Given the description of an element on the screen output the (x, y) to click on. 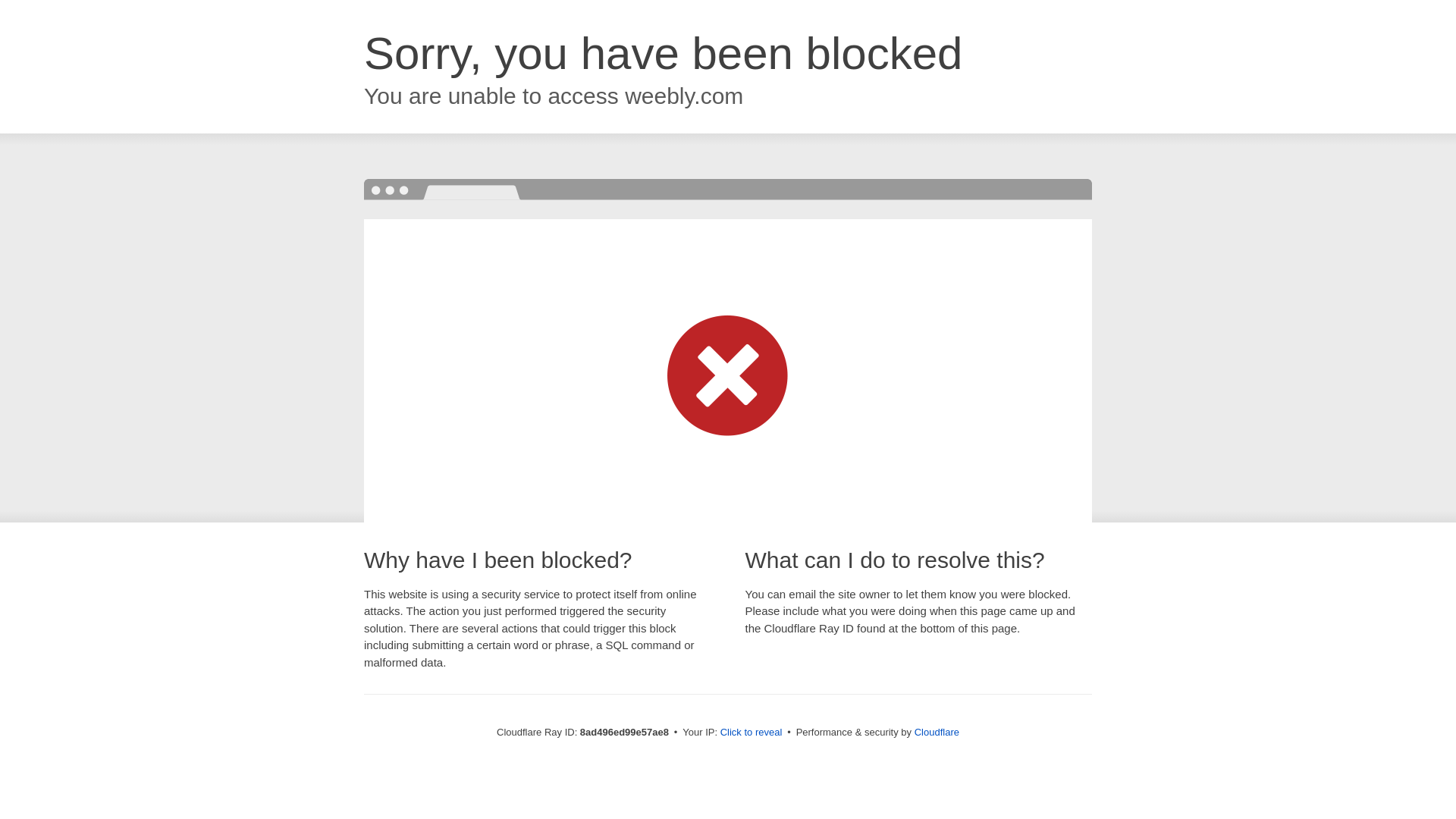
Click to reveal (751, 732)
Cloudflare (936, 731)
